Given the description of an element on the screen output the (x, y) to click on. 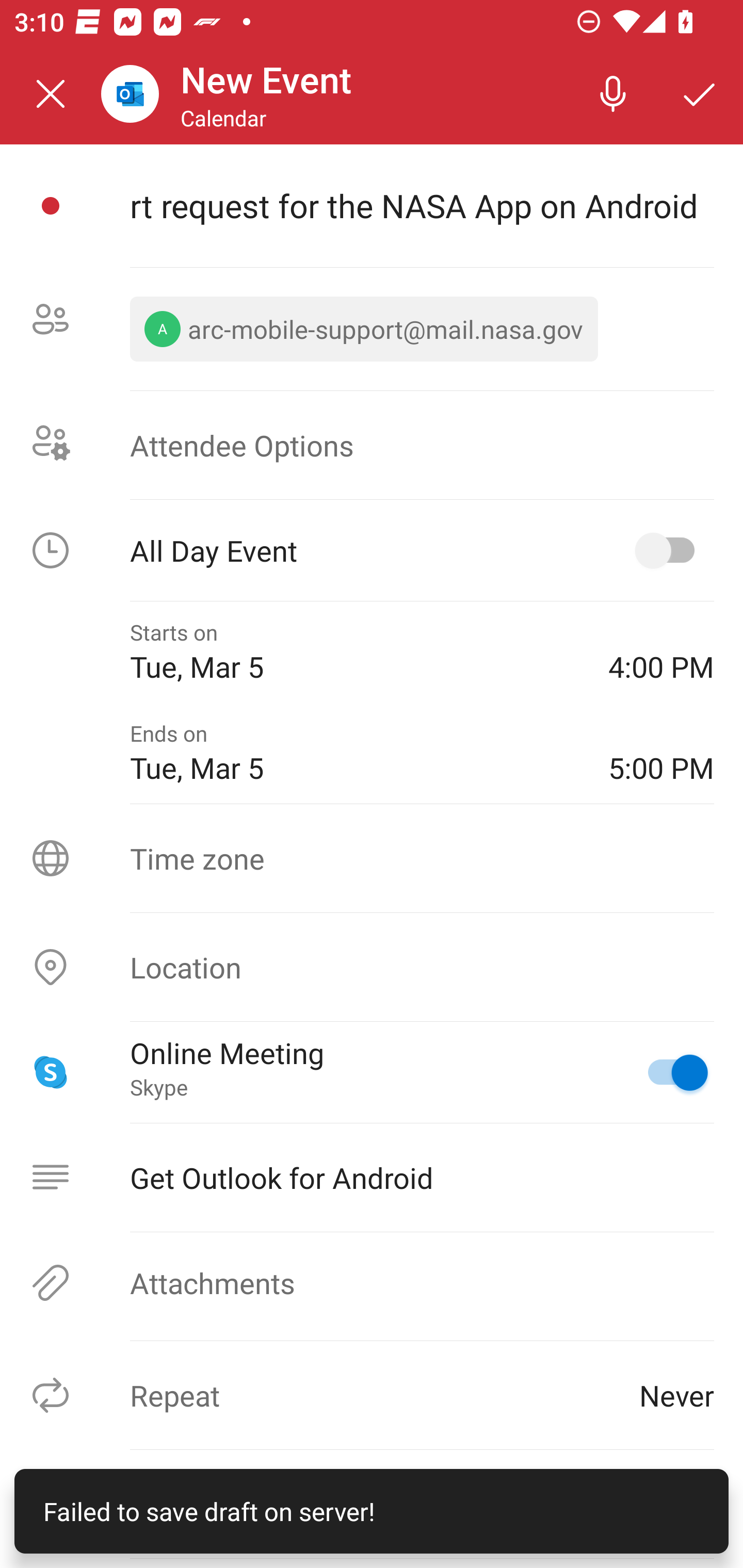
Close (50, 93)
Save (699, 93)
rt request for the NASA App on Android (422, 205)
Event icon picker (50, 206)
Attendee Options (371, 444)
All Day Event (371, 550)
Starts on Tue, Mar 5 (354, 652)
4:00 PM (660, 652)
Ends on Tue, Mar 5 (354, 752)
5:00 PM (660, 752)
Time zone (371, 858)
Location (371, 966)
Online Meeting, Skype selected (669, 1072)
Attachments (371, 1282)
Repeat Never (371, 1394)
Alert ⁨15 minutes before (371, 1504)
